Given the description of an element on the screen output the (x, y) to click on. 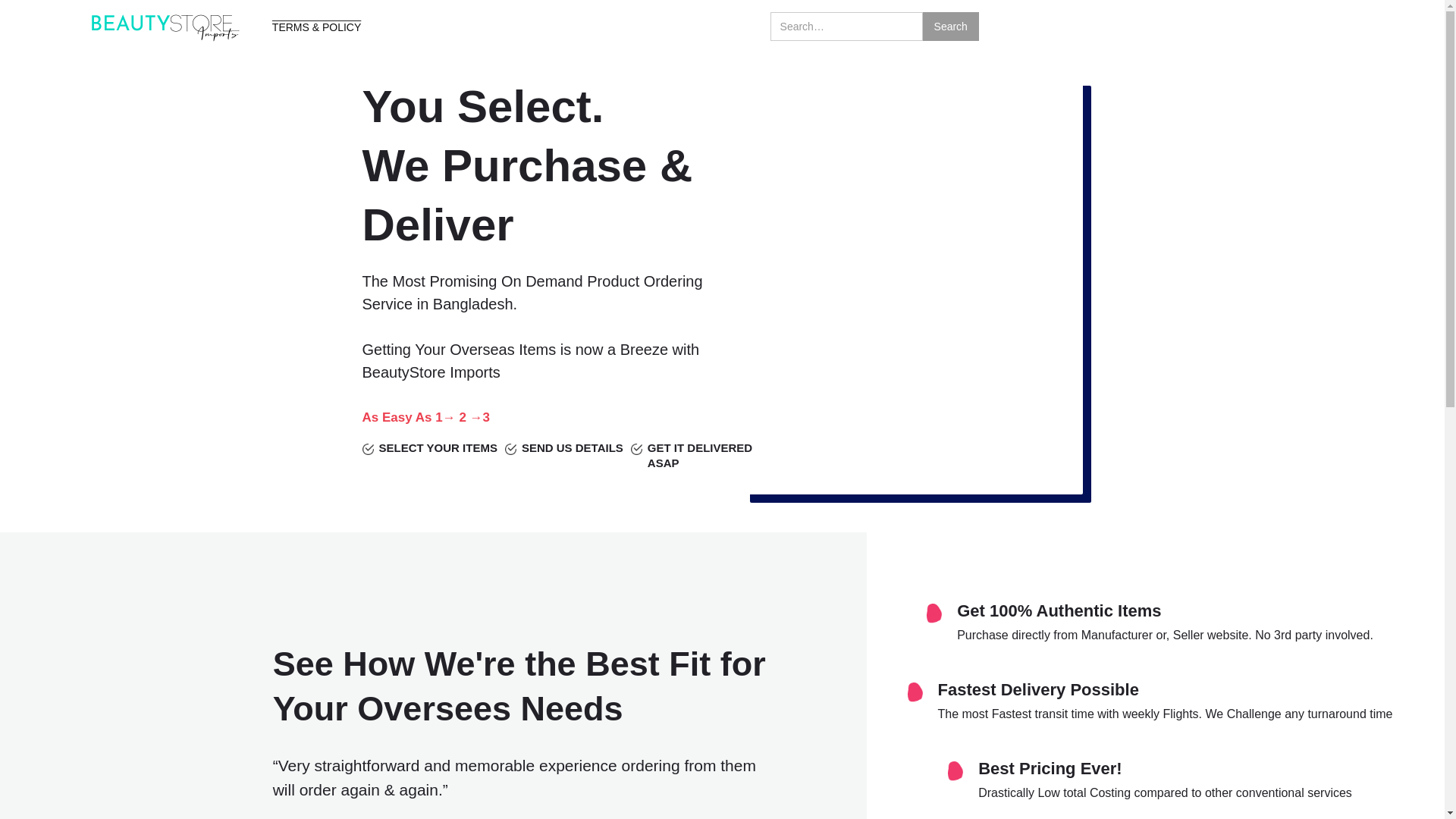
TERMS & POLICY Element type: text (316, 26)
Search Element type: text (950, 26)
